Given the description of an element on the screen output the (x, y) to click on. 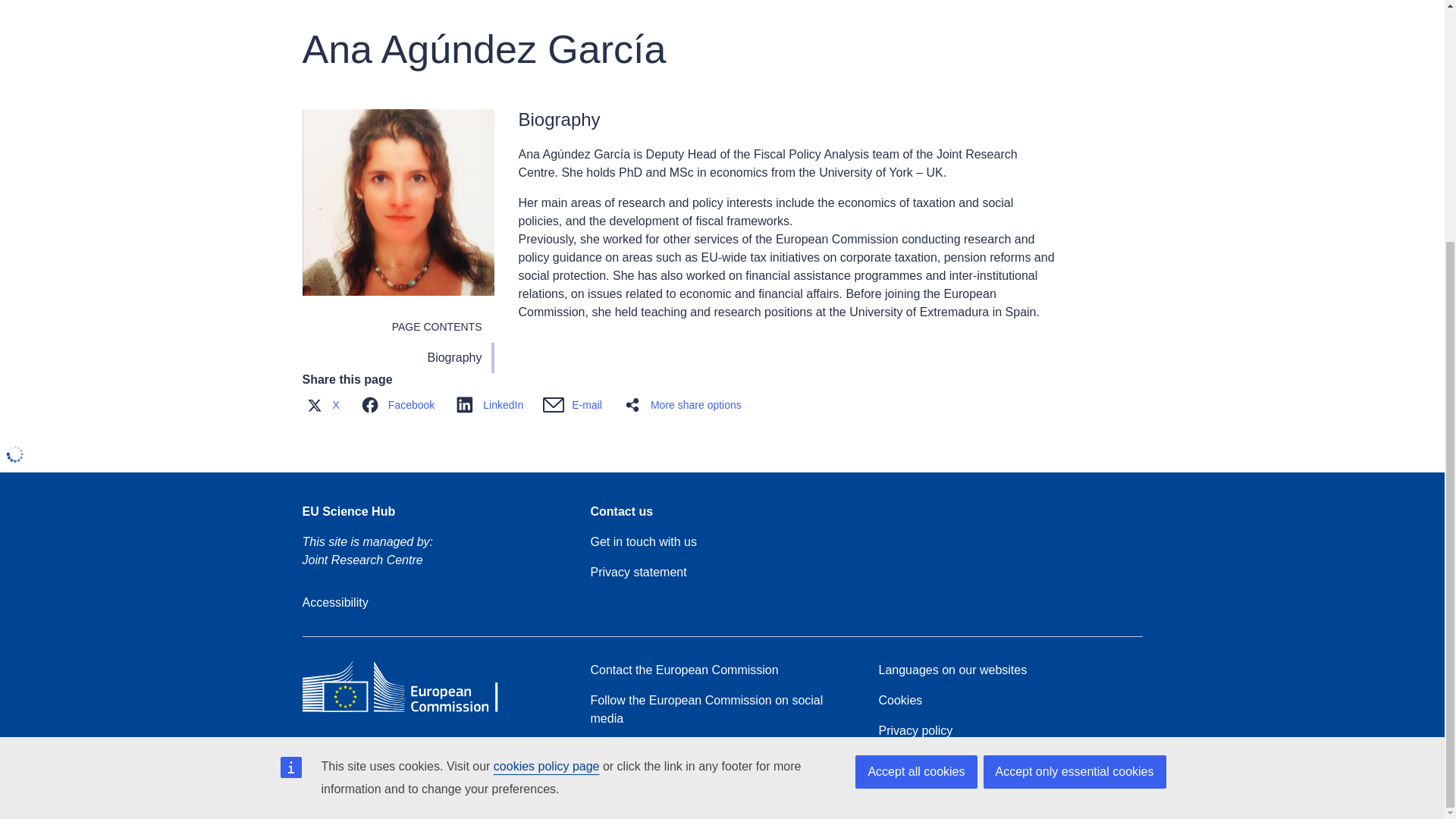
Facebook (401, 404)
Biography (397, 358)
Report an IT vulnerability (657, 779)
Privacy statement (637, 572)
EU Science Hub (347, 511)
X (324, 404)
Get in touch with us (643, 542)
Privacy policy (914, 730)
Cookies (899, 700)
E-mail (576, 404)
